Given the description of an element on the screen output the (x, y) to click on. 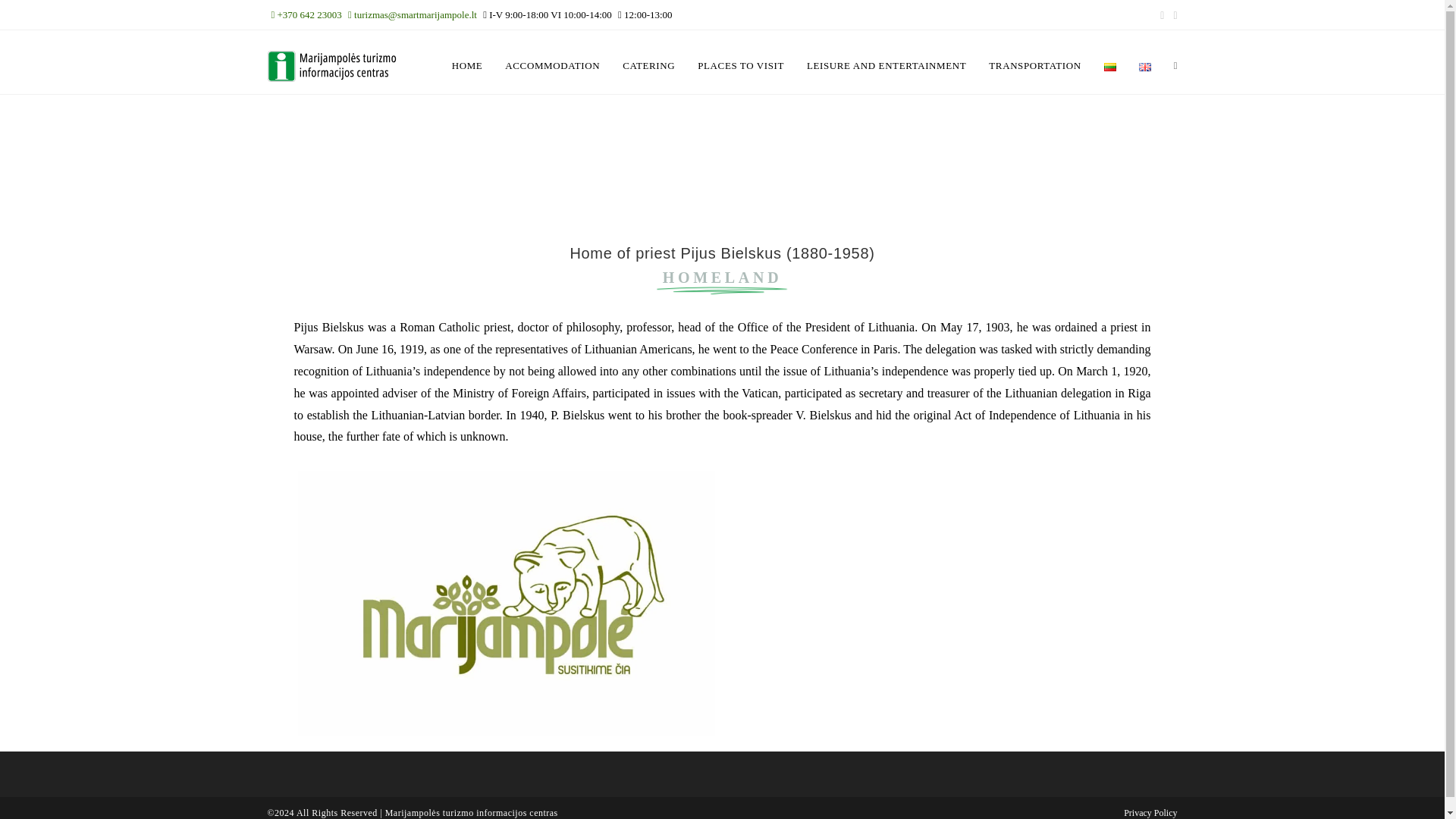
Balsupiai (938, 603)
HOME (468, 65)
PLACES TO VISIT (739, 65)
TRANSPORTATION (1034, 65)
ACCOMMODATION (552, 65)
CATERING (648, 65)
LEISURE AND ENTERTAINMENT (885, 65)
